Given the description of an element on the screen output the (x, y) to click on. 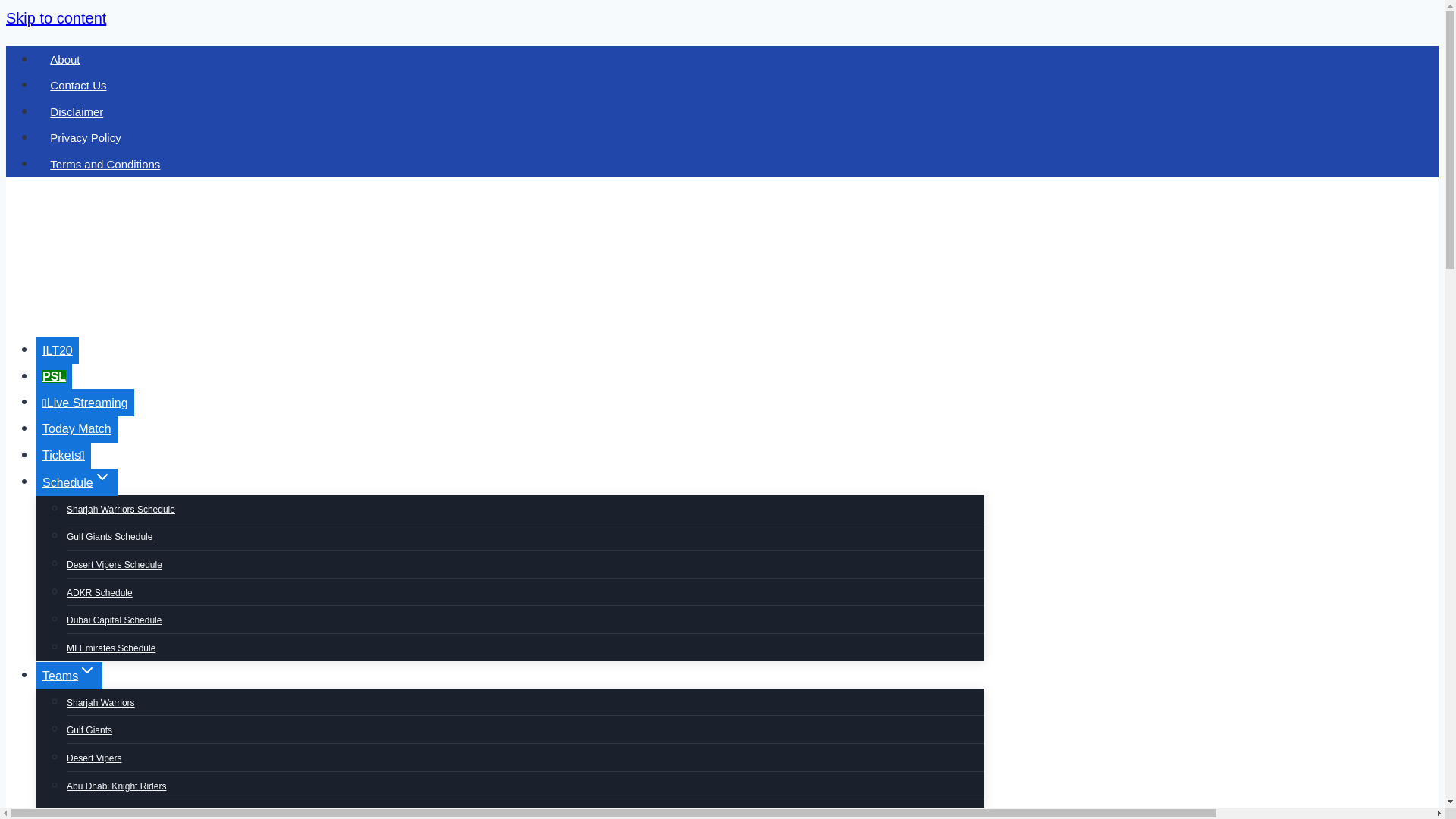
MI Emirates Schedule (110, 647)
Gulf Giants (89, 729)
Abu Dhabi Knight Riders (115, 786)
ILT20 (57, 349)
ScheduleExpand (76, 482)
Gulf Giants Schedule (109, 536)
Expand (87, 669)
Desert Vipers (93, 758)
TeamsExpand (68, 675)
Desert Vipers Schedule (113, 564)
Contact Us (78, 85)
ADKR Schedule (99, 592)
Sharjah Warriors Schedule (120, 509)
About (65, 59)
Skip to content (55, 17)
